Given the description of an element on the screen output the (x, y) to click on. 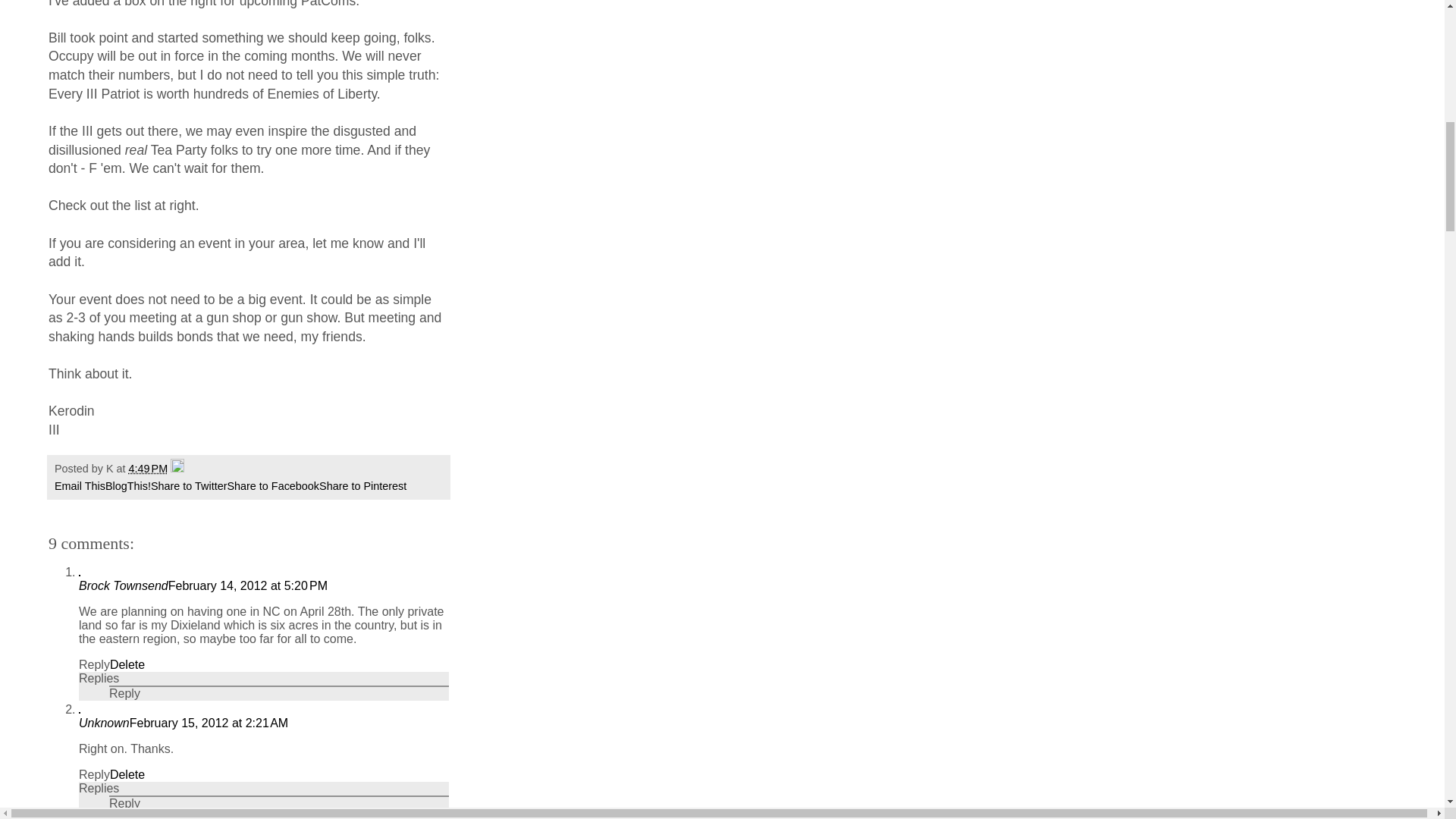
permanent link (148, 468)
BlogThis! (127, 485)
Share to Pinterest (362, 485)
Share to Pinterest (362, 485)
Brock Townsend (123, 585)
Unknown (103, 722)
Reply (94, 664)
Delete (127, 774)
Share to Facebook (272, 485)
Replies (98, 788)
Reply (94, 774)
Email This (79, 485)
BlogThis! (127, 485)
Share to Twitter (189, 485)
